Given the description of an element on the screen output the (x, y) to click on. 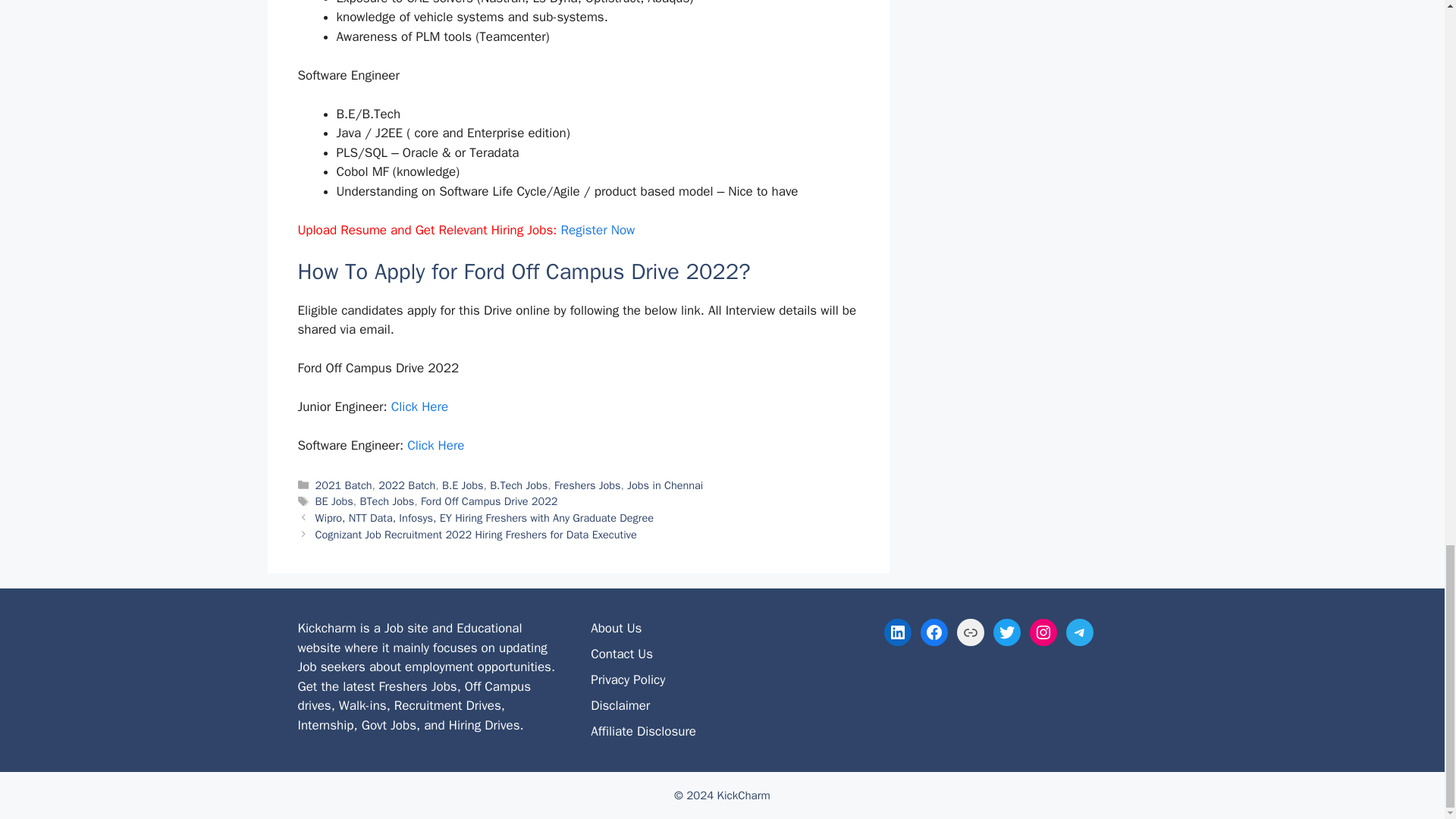
Register Now (597, 229)
BE Jobs (334, 500)
Click Here (419, 406)
BTech Jobs (386, 500)
2021 Batch (343, 485)
Jobs in Chennai (665, 485)
Click Here (435, 445)
Ford Off Campus Drive 2022 (488, 500)
2022 Batch (406, 485)
B.Tech Jobs (518, 485)
B.E Jobs (462, 485)
Freshers Jobs (587, 485)
